Given the description of an element on the screen output the (x, y) to click on. 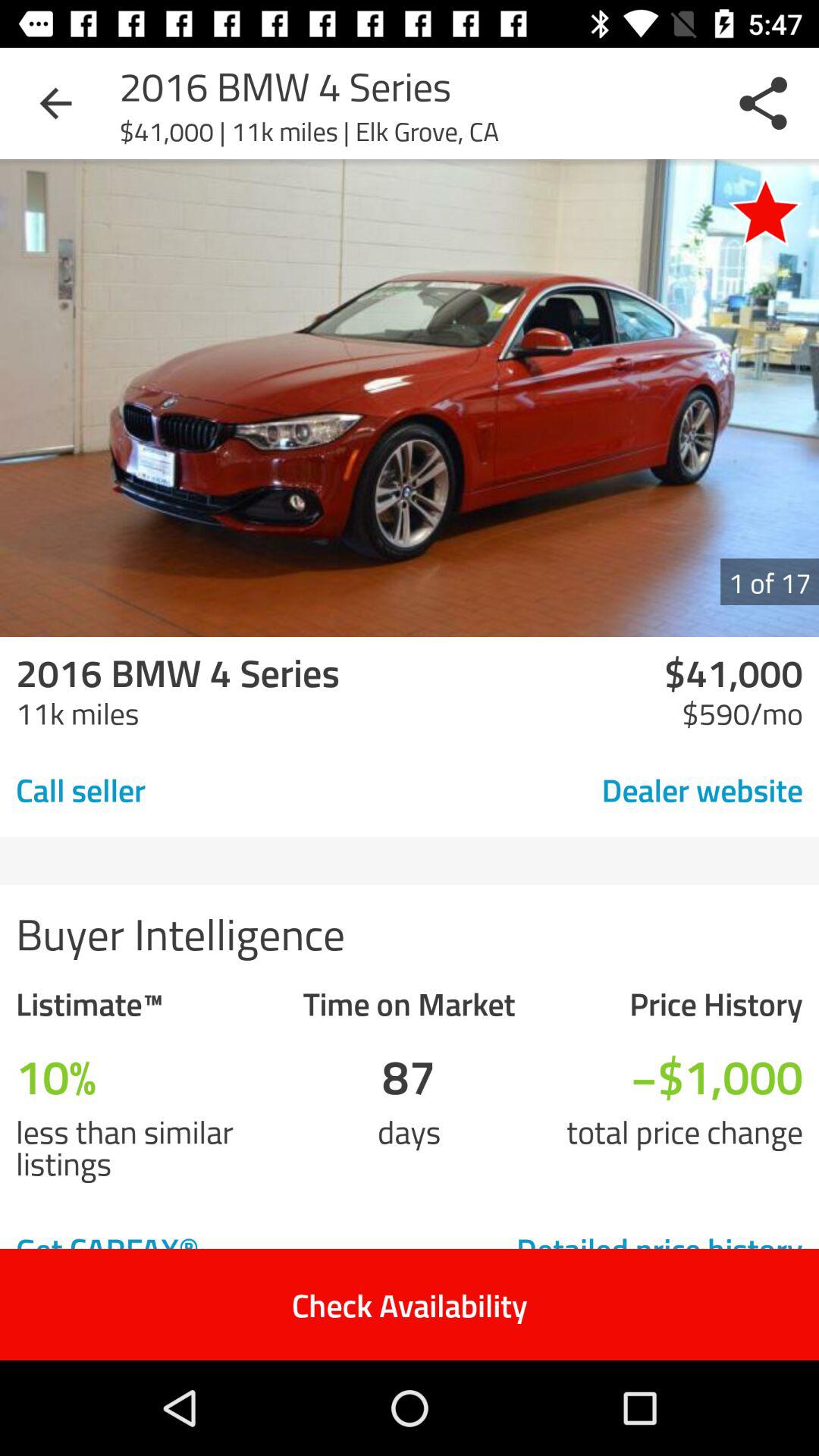
turn off app to the left of the 2016 bmw 4 item (55, 103)
